Given the description of an element on the screen output the (x, y) to click on. 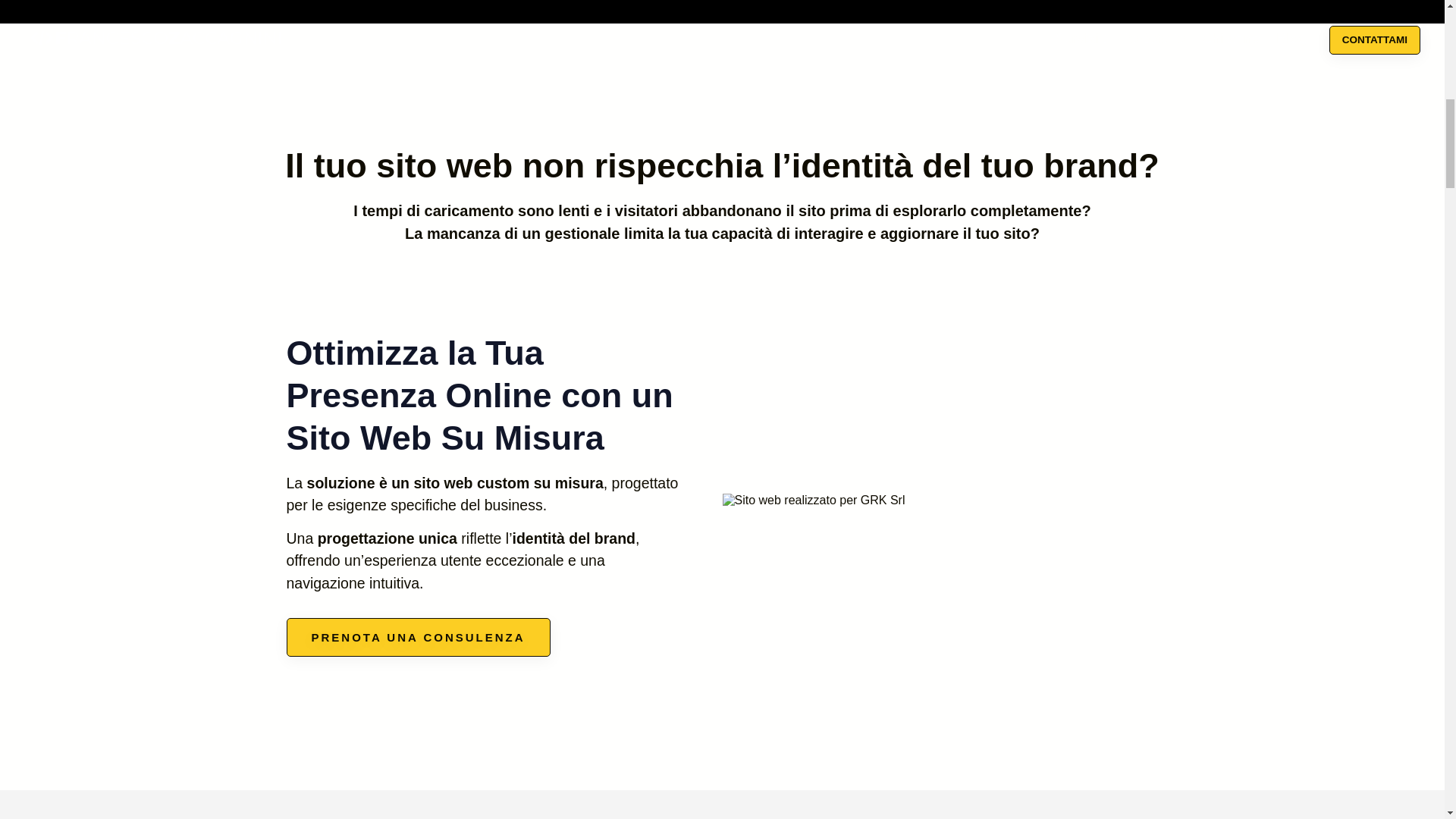
PRENOTA UNA CONSULENZA (418, 637)
